Given the description of an element on the screen output the (x, y) to click on. 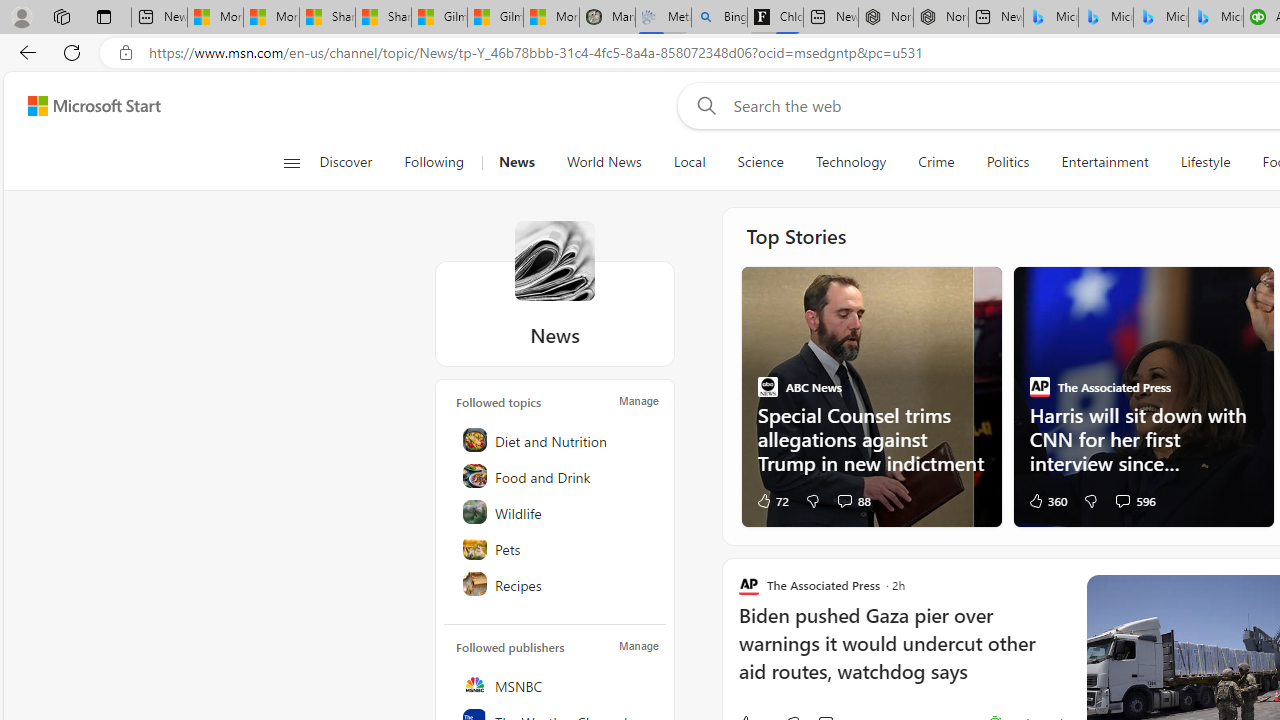
Microsoft Bing Travel - Shangri-La Hotel Bangkok (1215, 17)
News (516, 162)
Entertainment (1105, 162)
Wildlife (556, 511)
Local (689, 162)
Lifestyle (1204, 162)
